Given the description of an element on the screen output the (x, y) to click on. 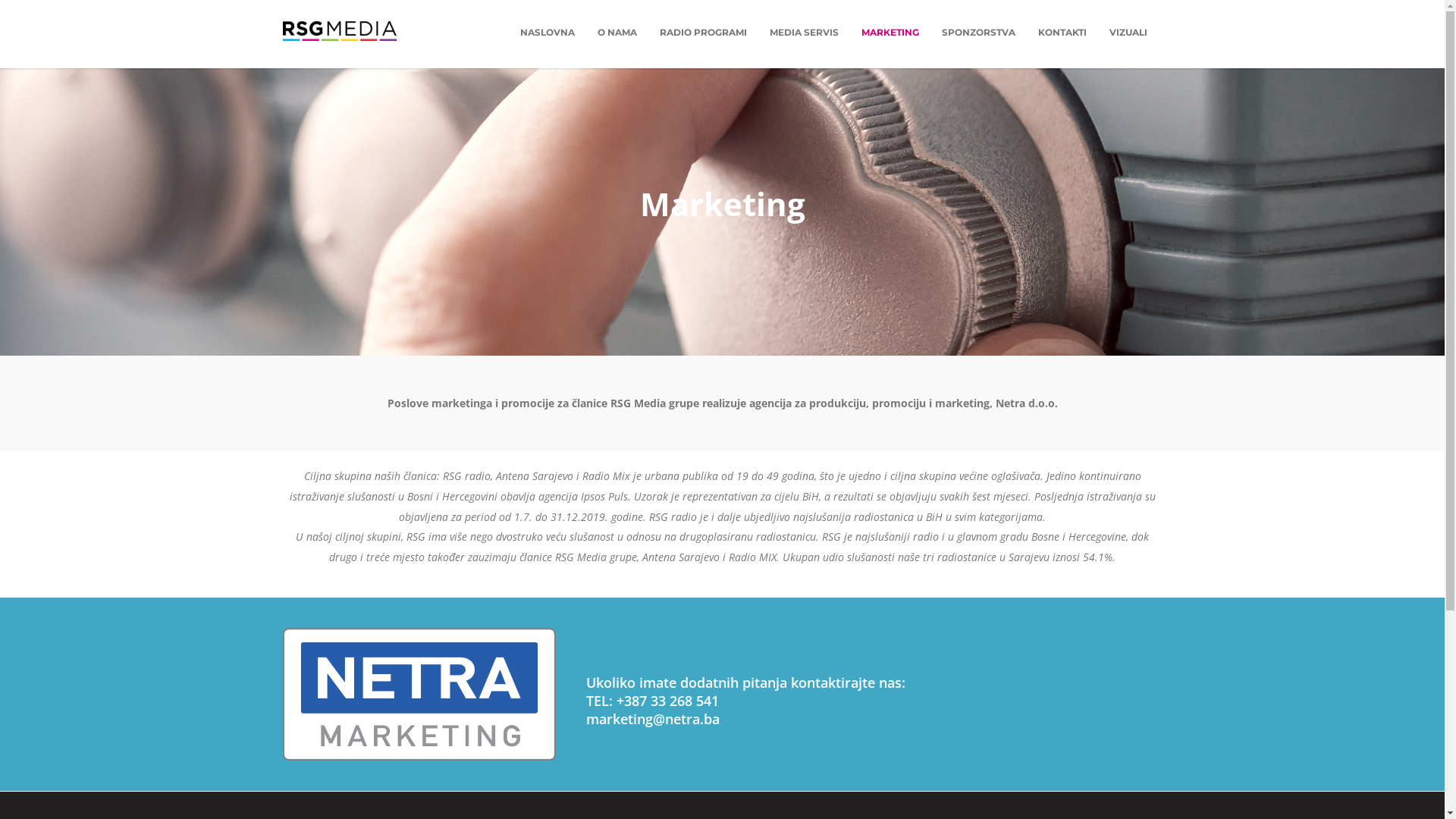
NASLOVNA Element type: text (546, 31)
marketing@netra.ba Element type: text (651, 718)
MARKETING Element type: text (889, 31)
O NAMA Element type: text (616, 31)
RADIO PROGRAMI Element type: text (702, 31)
SPONZORSTVA Element type: text (977, 31)
MEDIA SERVIS Element type: text (804, 31)
KONTAKTI Element type: text (1062, 31)
VIZUALI Element type: text (1128, 31)
